Given the description of an element on the screen output the (x, y) to click on. 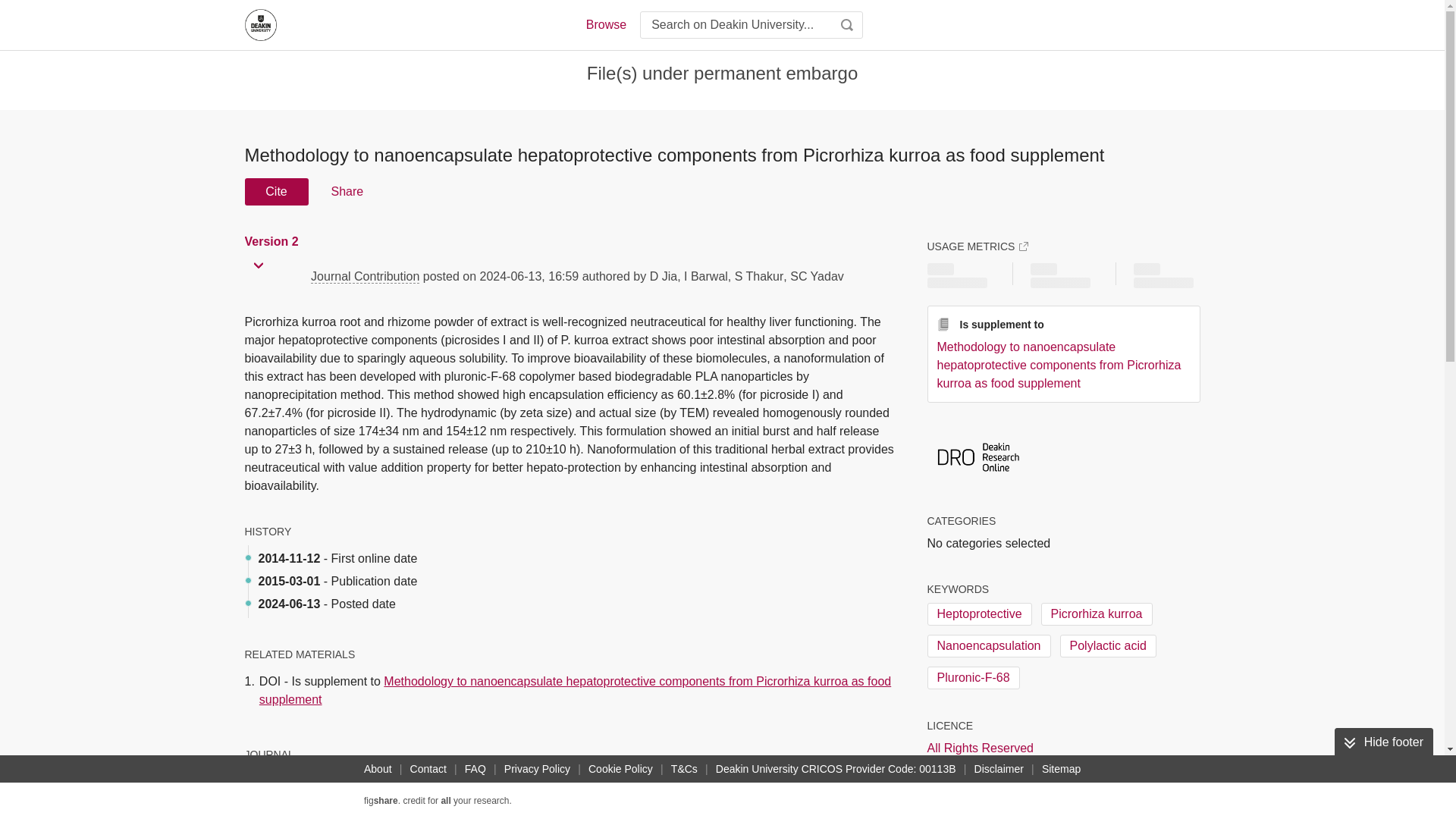
All Rights Reserved (979, 748)
Picrorhiza kurroa (1097, 613)
Hide footer (1383, 742)
Disclaimer (998, 769)
Polylactic acid (1107, 645)
Cookie Policy (620, 769)
About (377, 769)
Cite (275, 191)
Share (346, 191)
Sitemap (1060, 769)
Browse (605, 24)
USAGE METRICS (976, 246)
Heptoprotective (978, 613)
Deakin University CRICOS Provider Code: 00113B (835, 769)
